Given the description of an element on the screen output the (x, y) to click on. 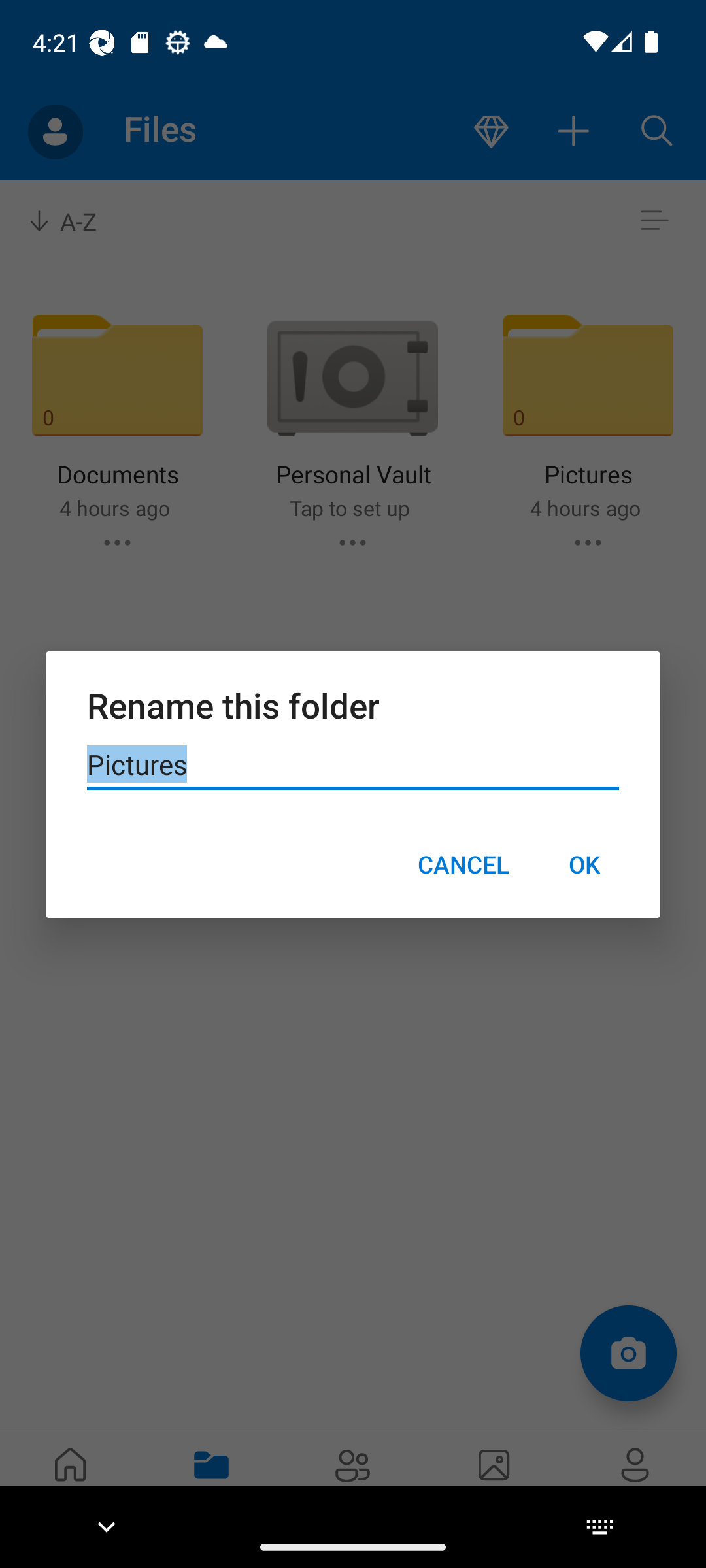
Pictures (352, 765)
CANCEL (463, 864)
OK (584, 864)
